Given the description of an element on the screen output the (x, y) to click on. 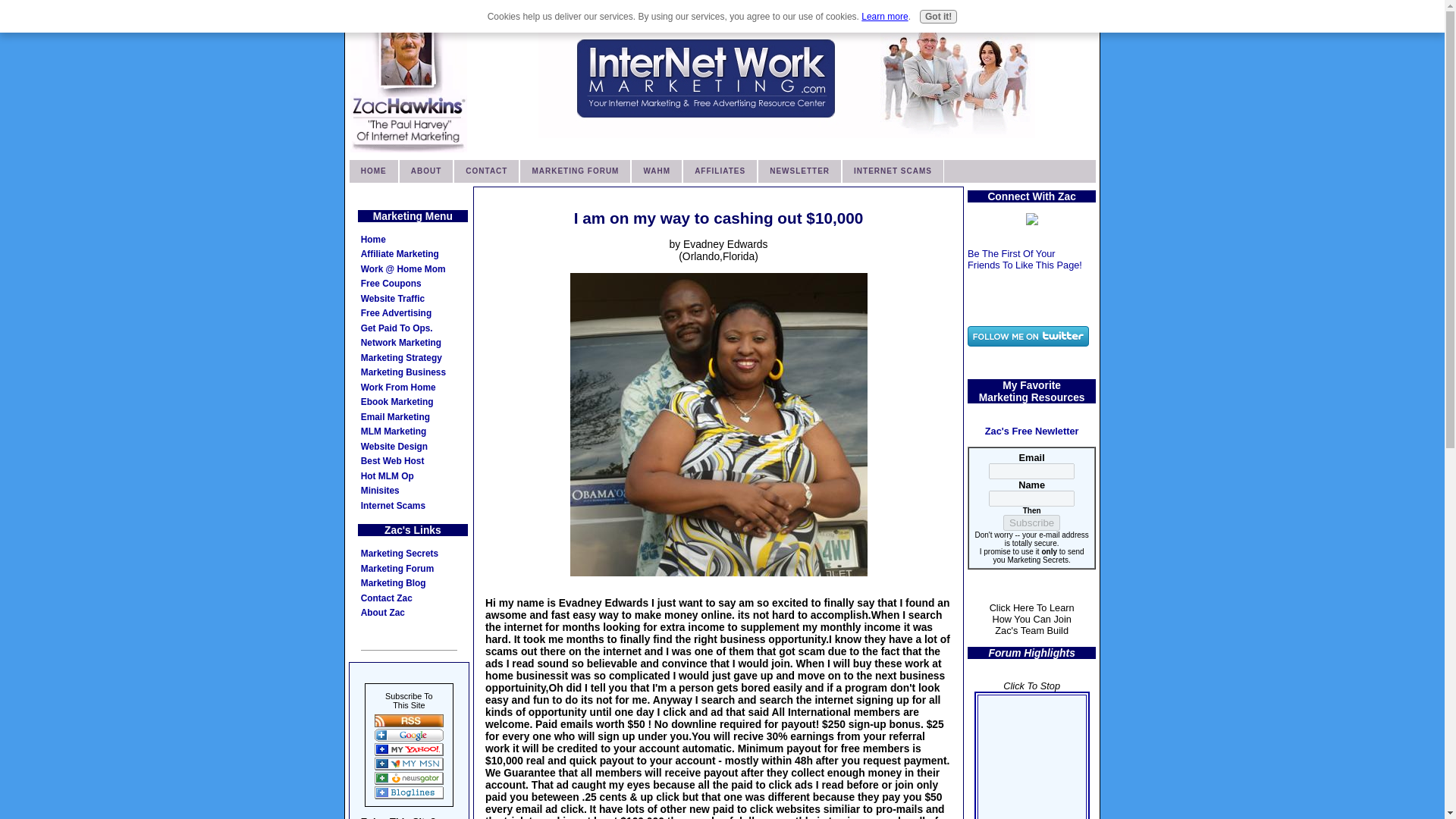
Best Web Host (412, 461)
Ebook Marketing (412, 402)
CONTACT (485, 170)
Marketing Secrets (412, 554)
Network Marketing (412, 343)
HOME (373, 170)
Website Design (412, 447)
Marketing Business (412, 372)
Free Coupons (412, 283)
internet marketing header (786, 78)
